Given the description of an element on the screen output the (x, y) to click on. 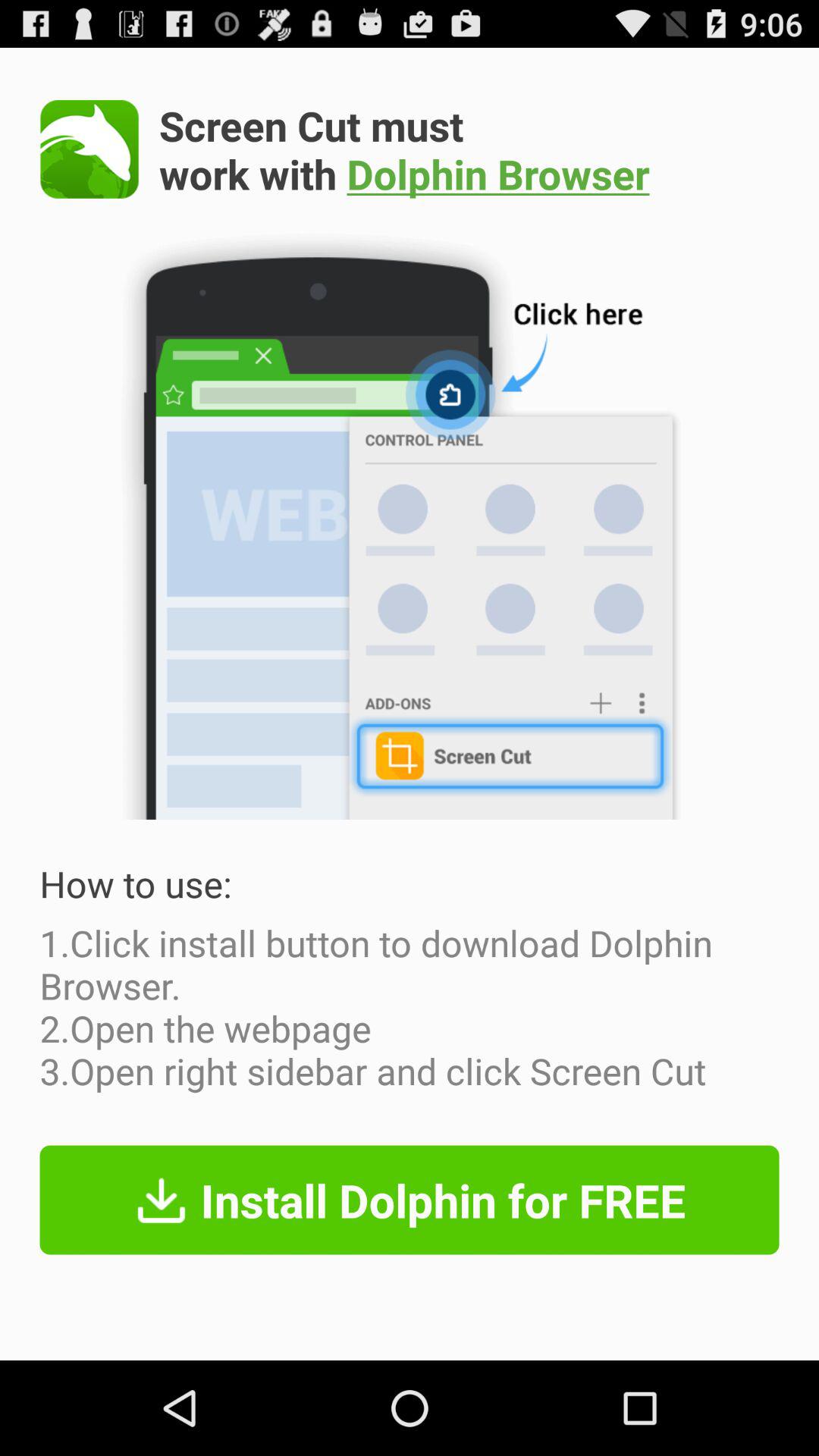
tap the icon at the top left corner (89, 149)
